Given the description of an element on the screen output the (x, y) to click on. 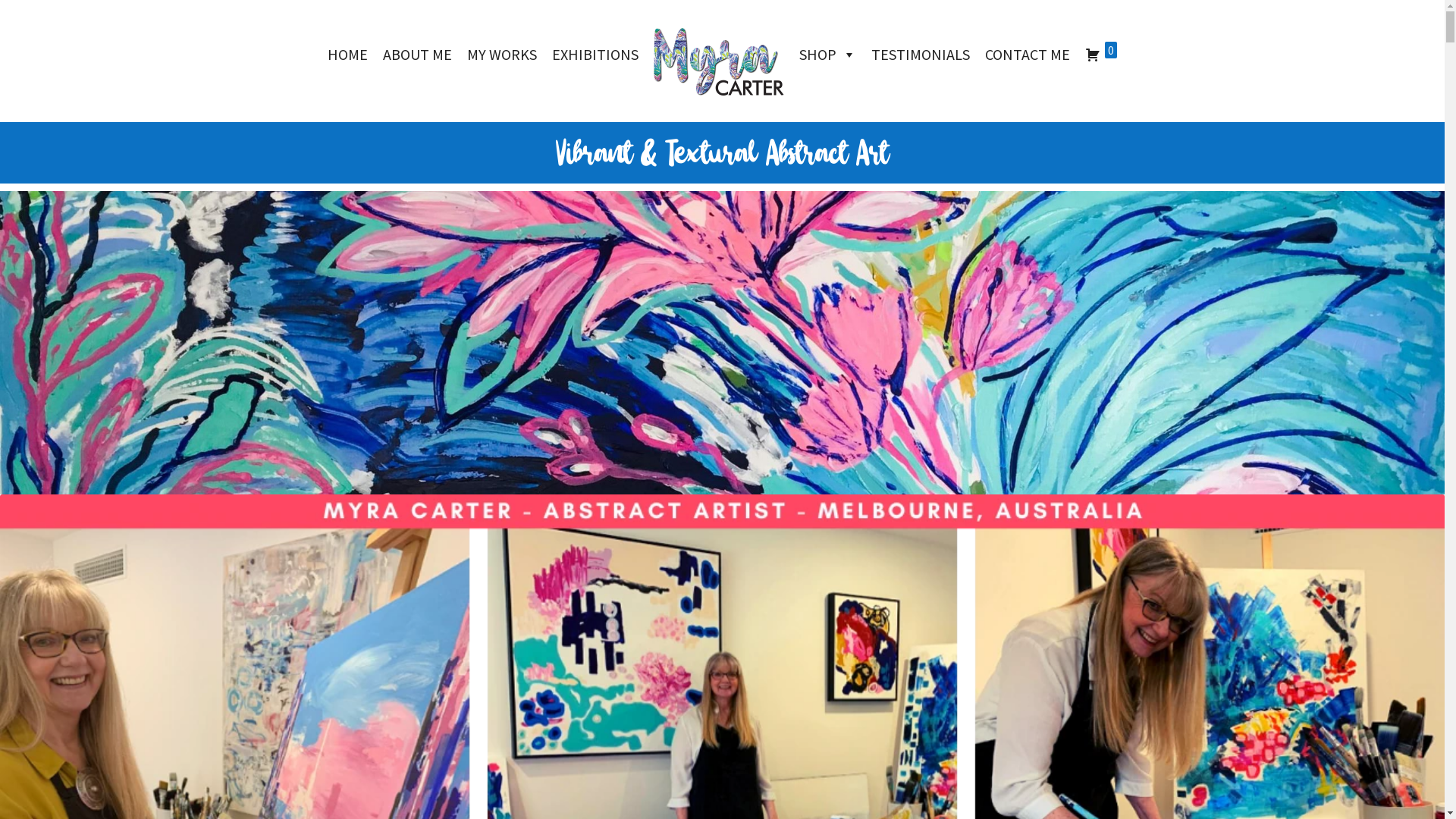
SHOP Element type: text (827, 54)
HOME Element type: text (347, 54)
MY WORKS Element type: text (501, 54)
ABOUT ME Element type: text (417, 54)
CONTACT ME Element type: text (1027, 54)
EXHIBITIONS Element type: text (595, 54)
TESTIMONIALS Element type: text (920, 54)
0 Element type: text (1100, 54)
